Given the description of an element on the screen output the (x, y) to click on. 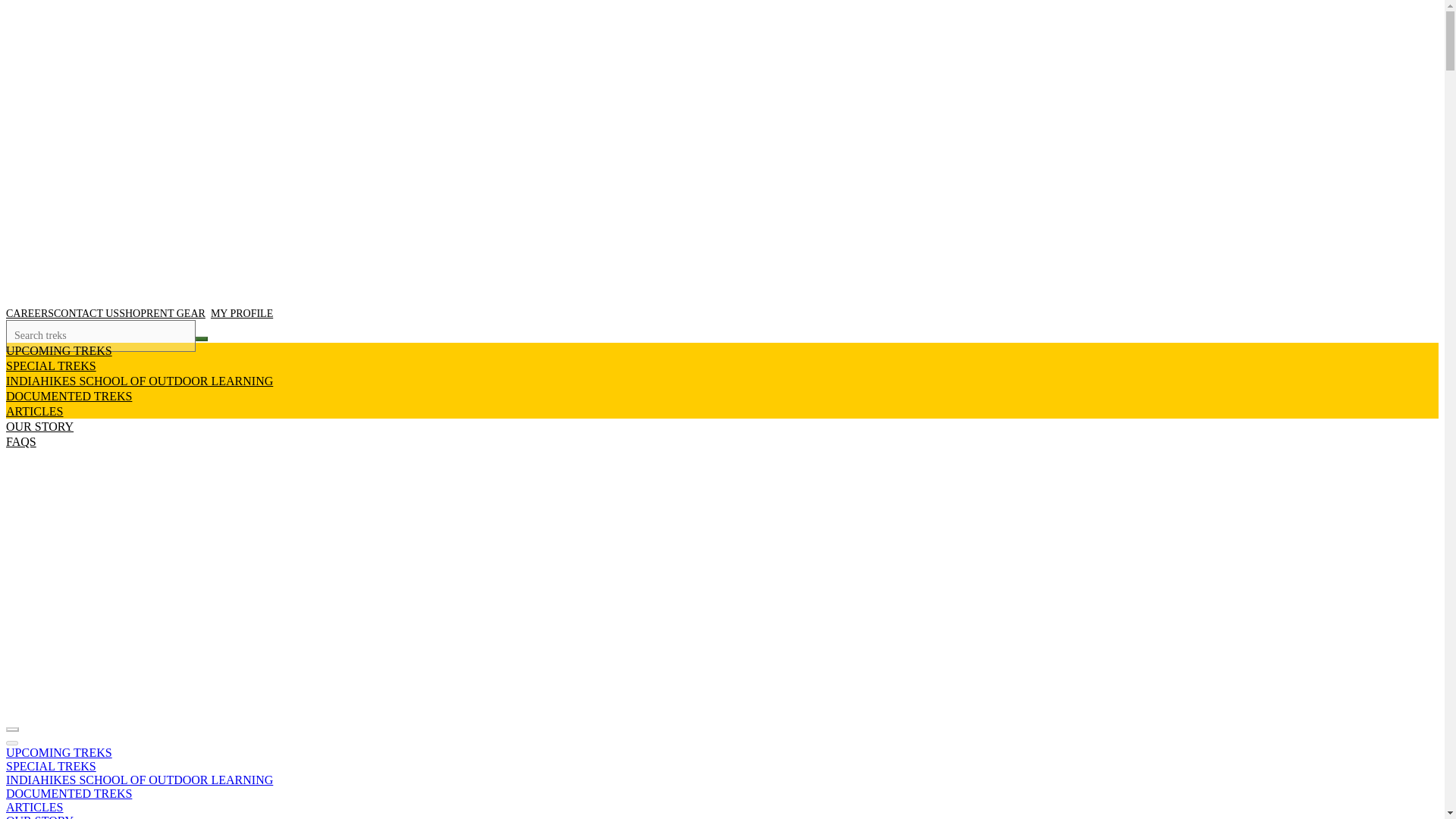
CAREERS (29, 313)
RENT GEAR (176, 313)
SHOP (133, 313)
UPCOMING TREKS (58, 752)
MY PROFILE (239, 313)
CONTACT US (86, 313)
